Given the description of an element on the screen output the (x, y) to click on. 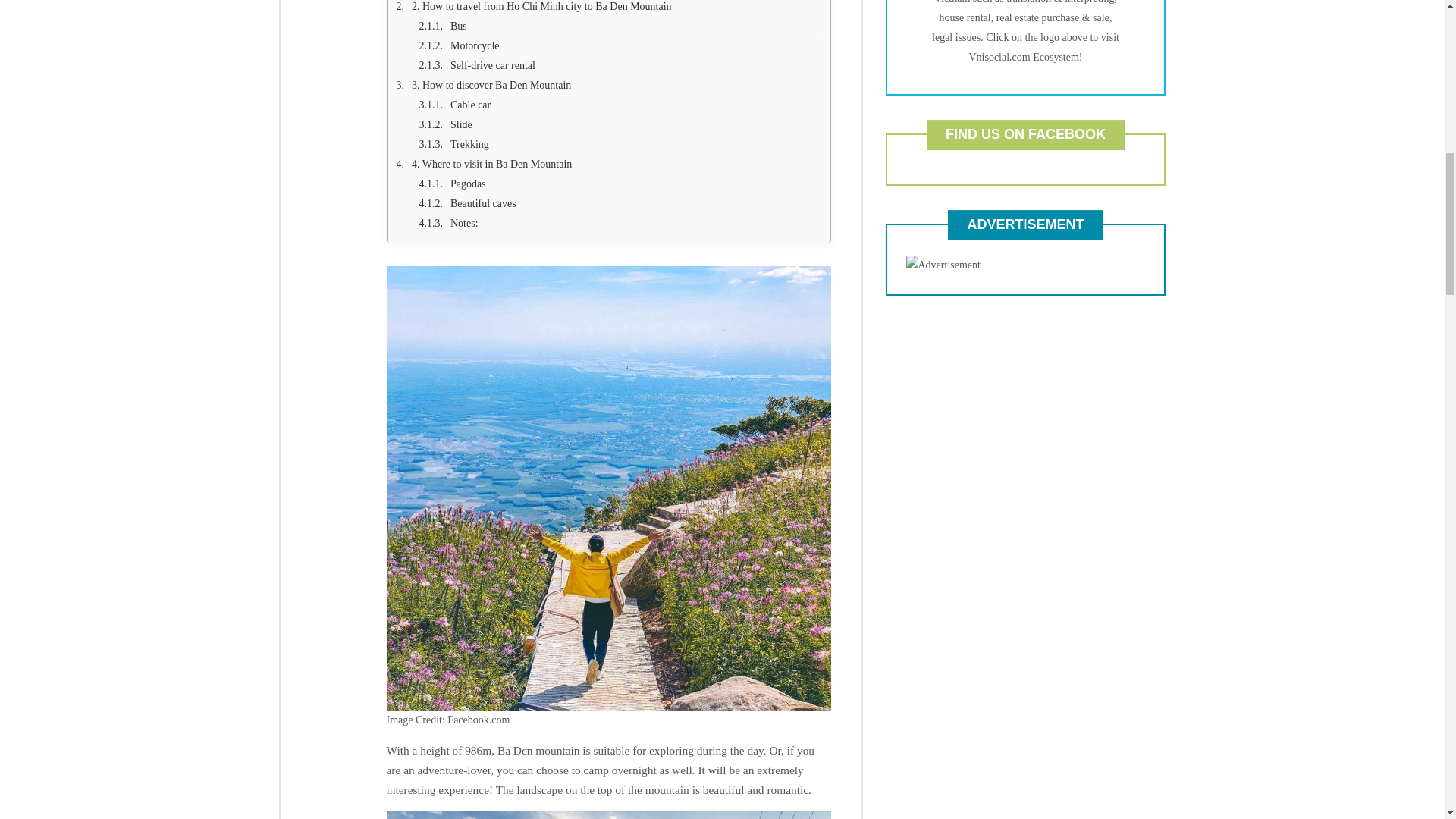
Cable car (620, 105)
Notes: (620, 223)
Slide (620, 125)
Bus (620, 26)
Trekking (620, 144)
Beautiful caves (620, 203)
Pagodas (620, 184)
2. How to travel from Ho Chi Minh city to Ba Den Mountain (608, 8)
Motorcycle (620, 46)
4. Where to visit in Ba Den Mountain (608, 164)
